Given the description of an element on the screen output the (x, y) to click on. 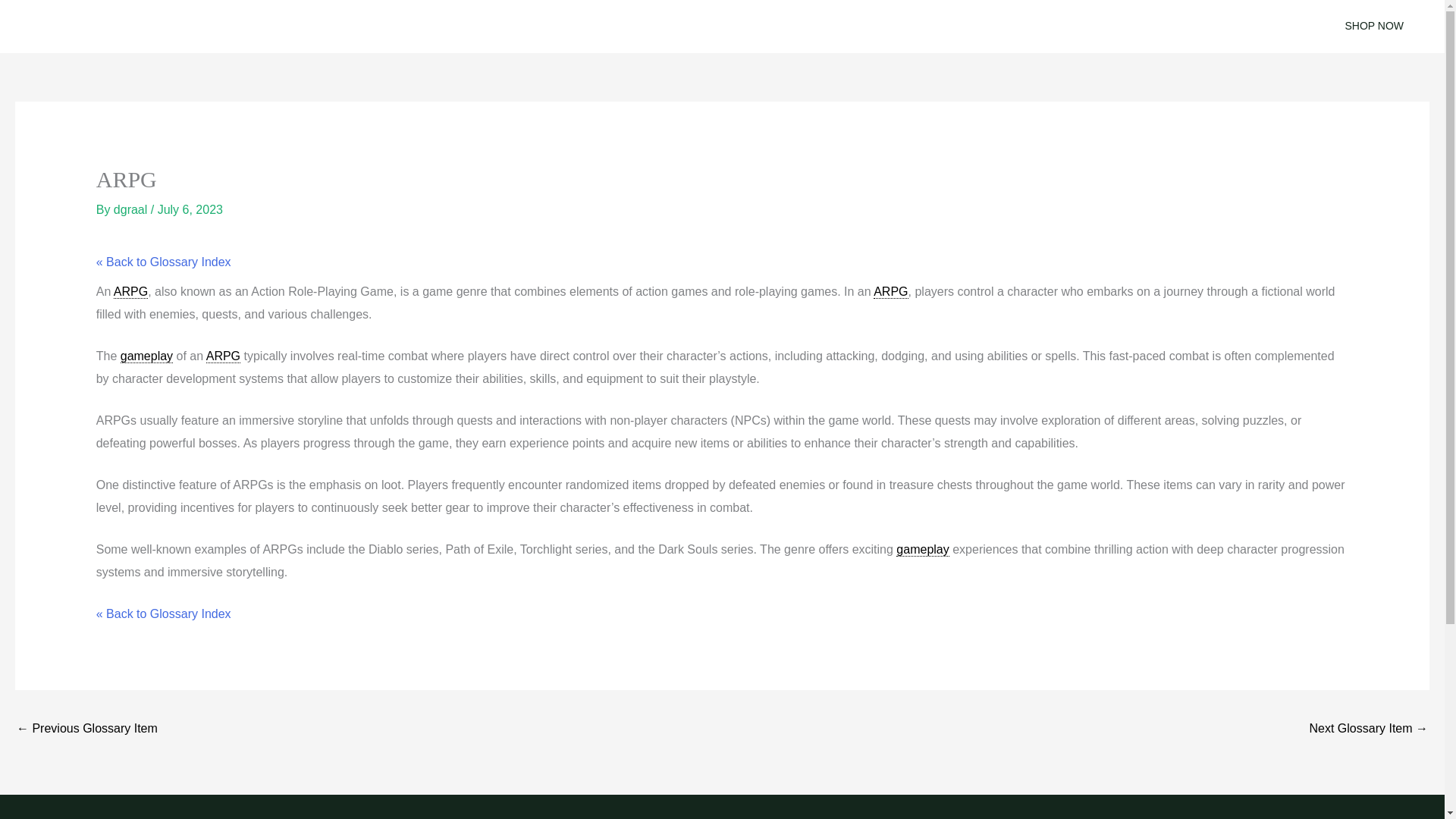
ARPG (130, 291)
View all posts by dgraal (132, 209)
ARPG (890, 291)
SHOP NOW (1374, 26)
STORE (750, 26)
GAMEDEV (670, 26)
dgraal (132, 209)
ABOUT US (831, 26)
BLOG (593, 26)
Alpha (86, 729)
